Given the description of an element on the screen output the (x, y) to click on. 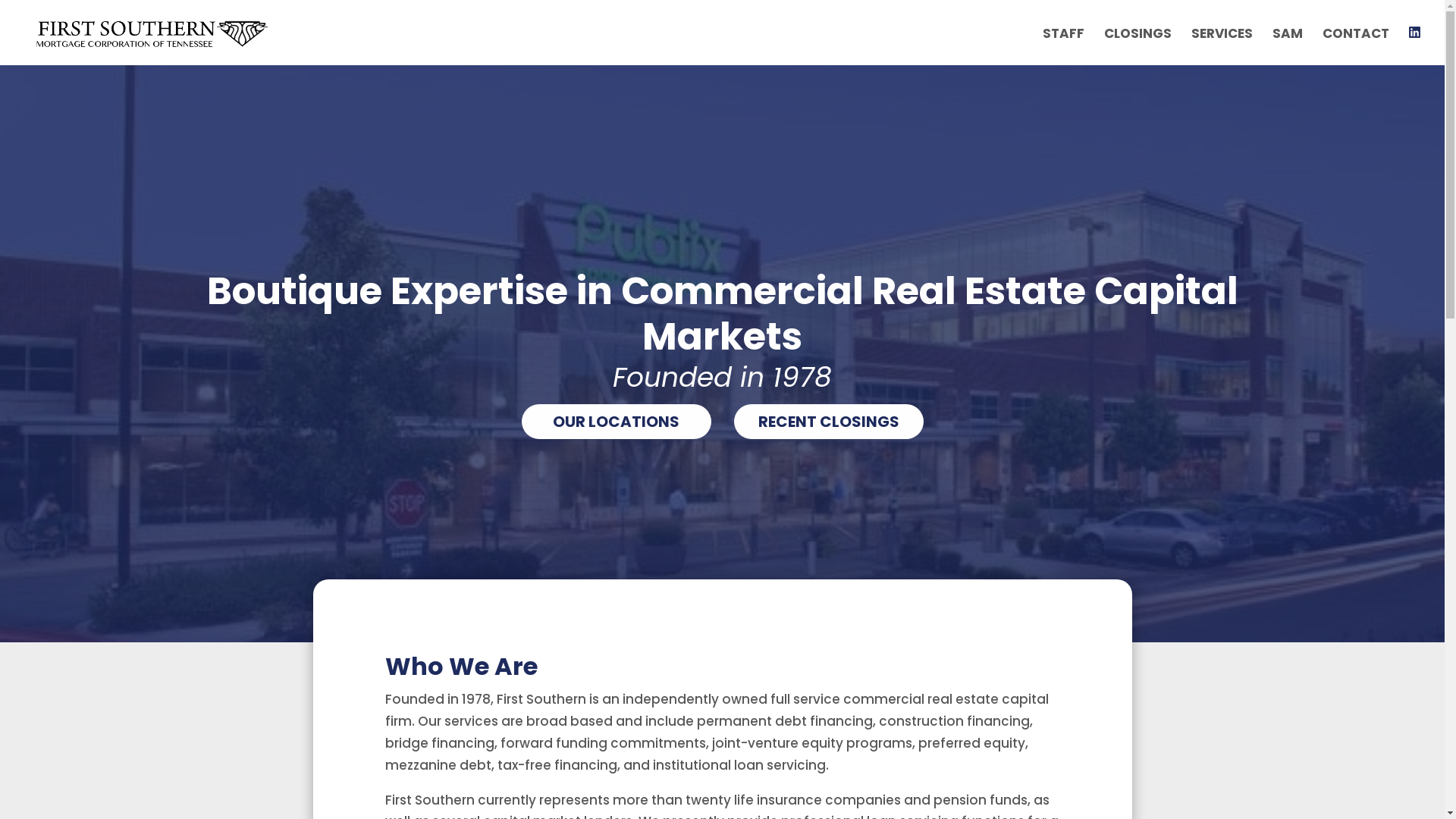
SAM Element type: text (1287, 46)
Boutique Expertise in Commercial Real Estate Capital Markets Element type: text (721, 313)
RECENT CLOSINGS Element type: text (828, 421)
STAFF Element type: text (1063, 46)
CLOSINGS Element type: text (1137, 46)
SERVICES Element type: text (1221, 46)
OUR LOCATIONS Element type: text (616, 421)
CONTACT Element type: text (1355, 46)
